Given the description of an element on the screen output the (x, y) to click on. 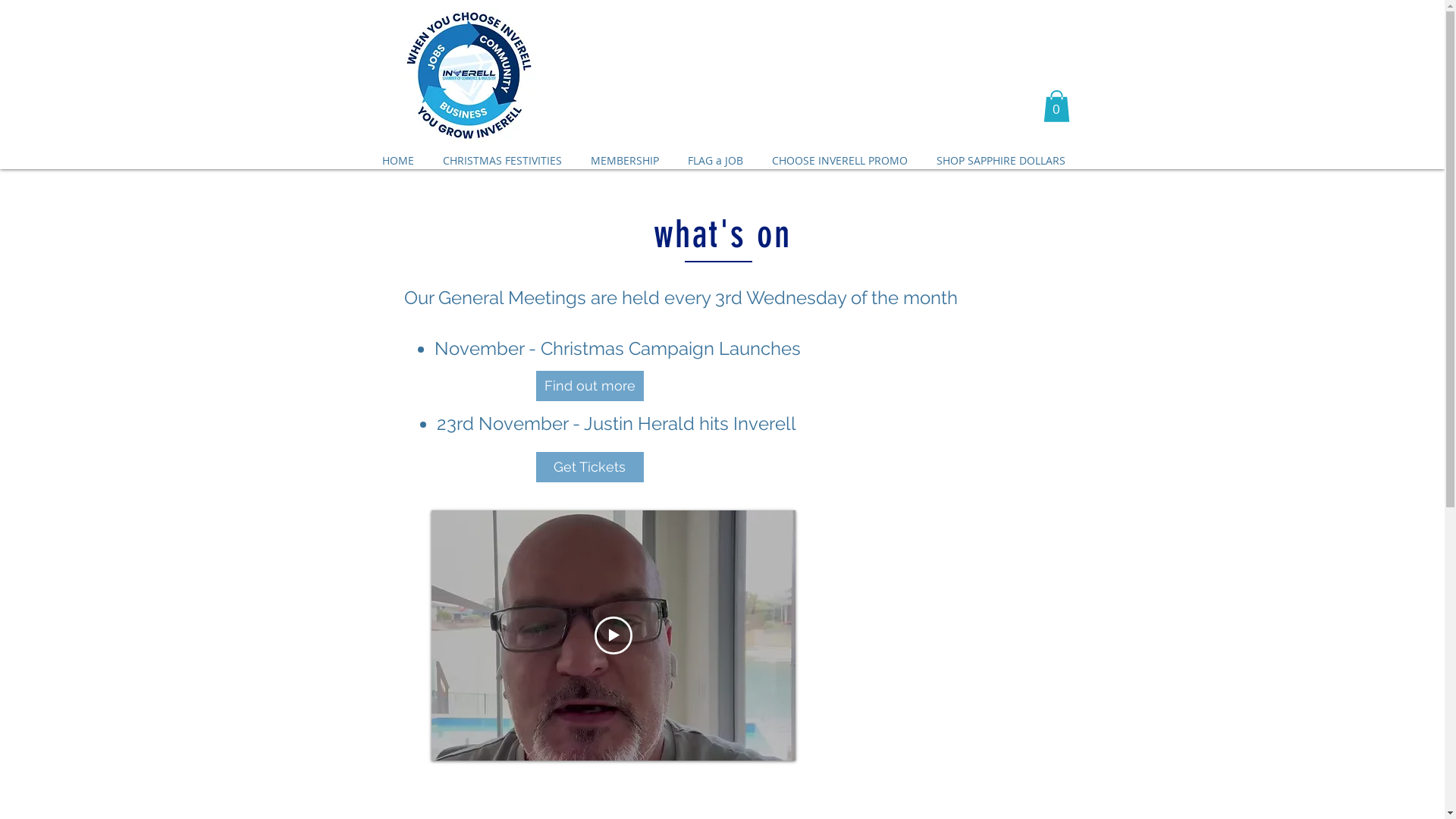
SHOP SAPPHIRE DOLLARS Element type: text (1000, 160)
CHOOSE INVERELL PROMO Element type: text (838, 160)
Get Tickets Element type: text (589, 466)
0 Element type: text (1056, 106)
FLAG a JOB Element type: text (715, 160)
MEMBERSHIP Element type: text (624, 160)
CHRISTMAS FESTIVITIES Element type: text (501, 160)
Find out more Element type: text (589, 385)
HOME Element type: text (398, 160)
